Given the description of an element on the screen output the (x, y) to click on. 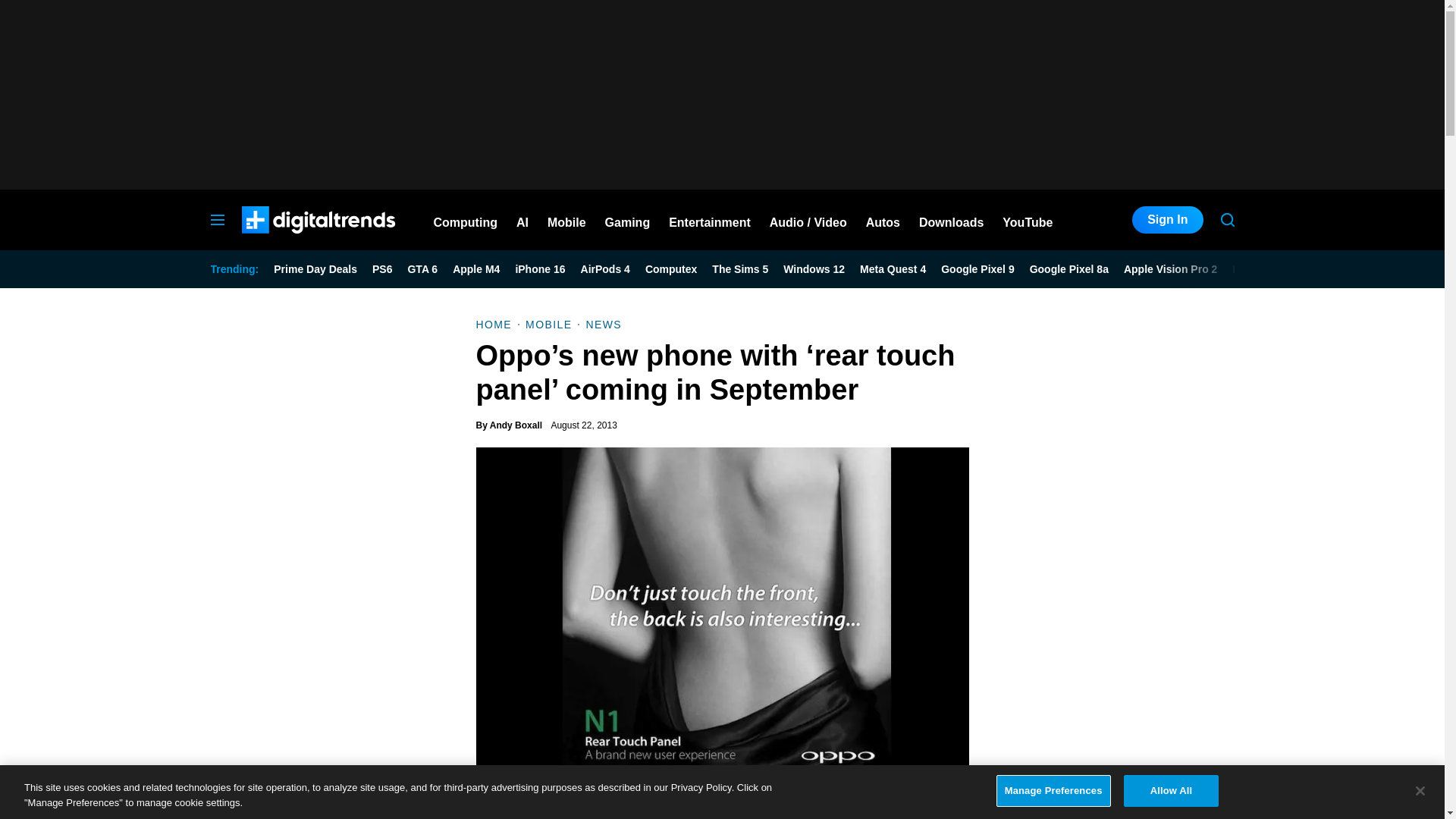
Computing (465, 219)
Downloads (951, 219)
Sign In (1167, 219)
Entertainment (709, 219)
